Given the description of an element on the screen output the (x, y) to click on. 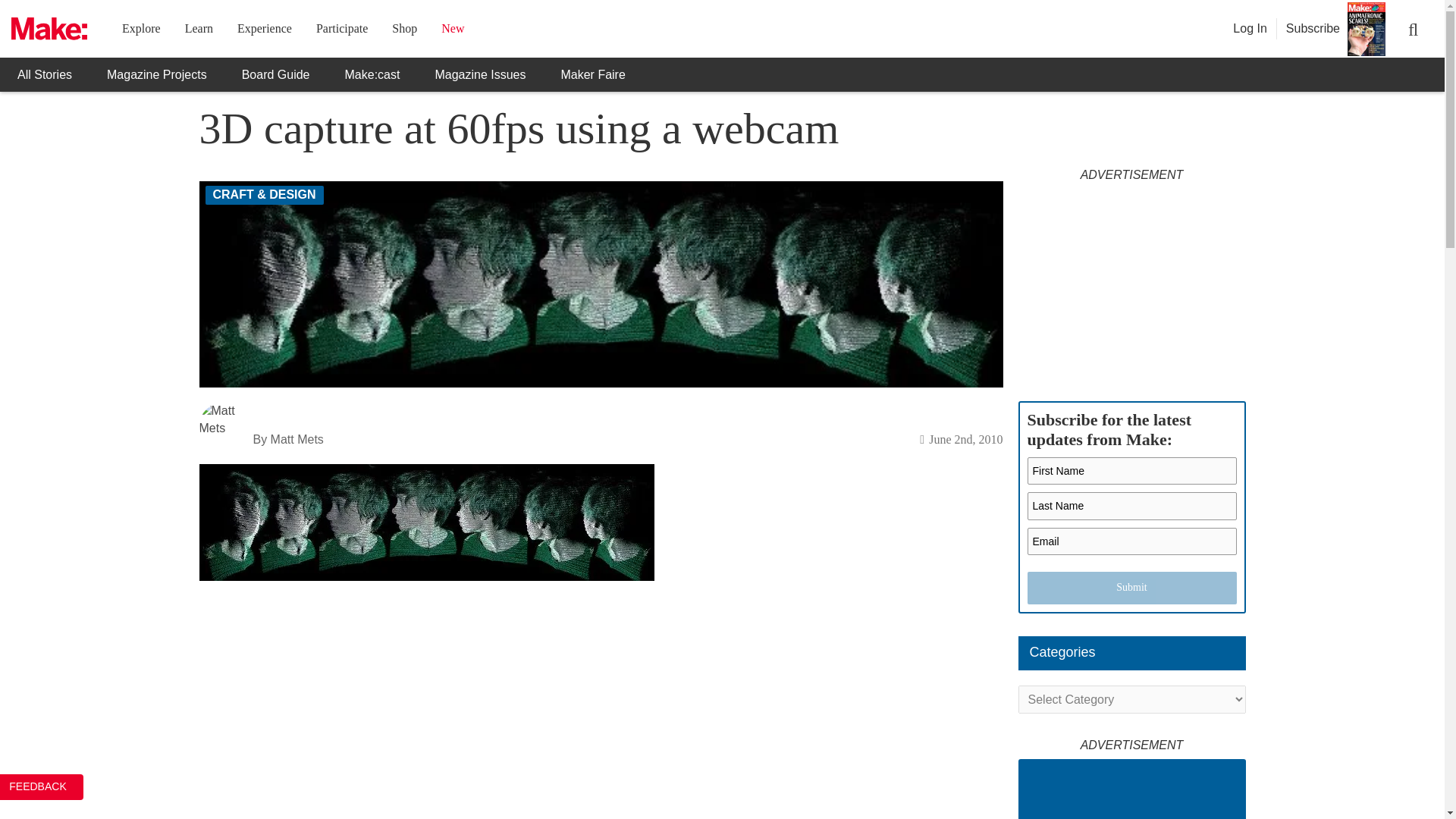
3rd party ad content (1130, 283)
All Stories (44, 74)
Board Guide (275, 74)
Maker Faire (592, 74)
Magazine Issues (479, 74)
Make:cast (372, 74)
Participate (341, 28)
Learn (198, 28)
Explore (141, 28)
Magazine Projects (156, 74)
Experience (264, 28)
Log In (1249, 28)
